Given the description of an element on the screen output the (x, y) to click on. 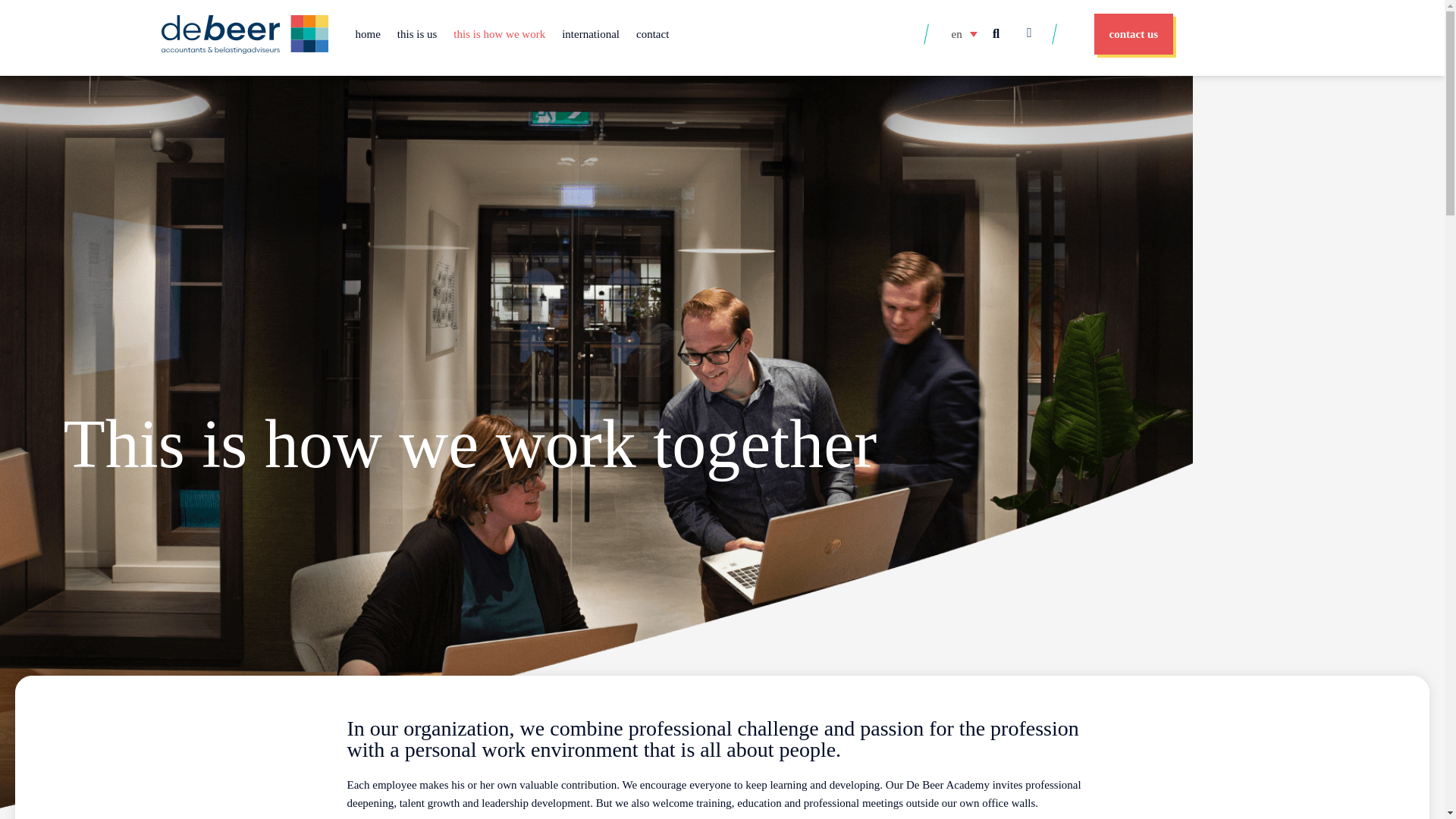
this is us (416, 33)
home (367, 33)
contact us (1133, 33)
contact (652, 33)
en (963, 34)
international (590, 33)
this is how we work (499, 33)
